Given the description of an element on the screen output the (x, y) to click on. 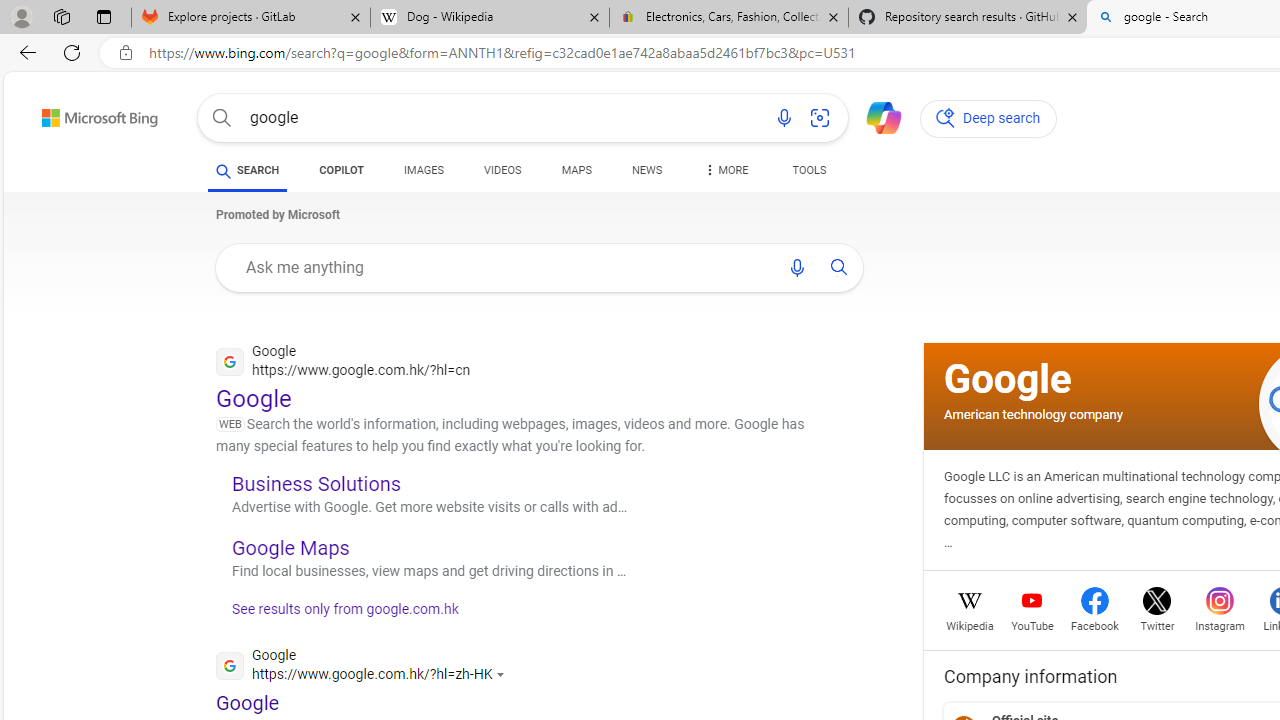
Instagram (1219, 624)
VIDEOS (502, 173)
TOOLS (808, 170)
IMAGES (424, 170)
American technology company (1033, 413)
Google (1008, 378)
Dropdown Menu (724, 170)
Search button (221, 117)
